Given the description of an element on the screen output the (x, y) to click on. 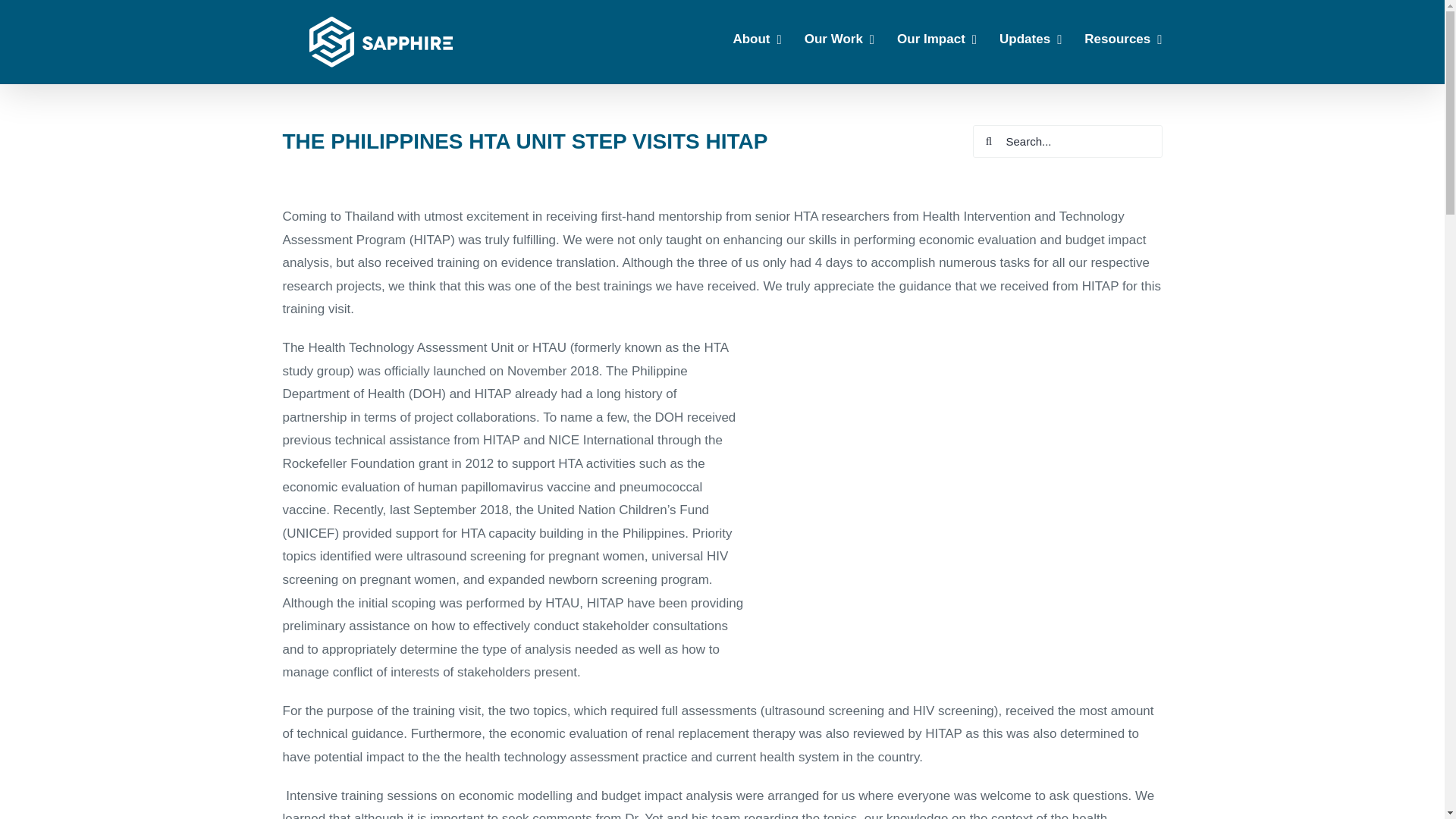
Resources (1122, 38)
Our Impact (936, 38)
Our Work (840, 38)
